Given the description of an element on the screen output the (x, y) to click on. 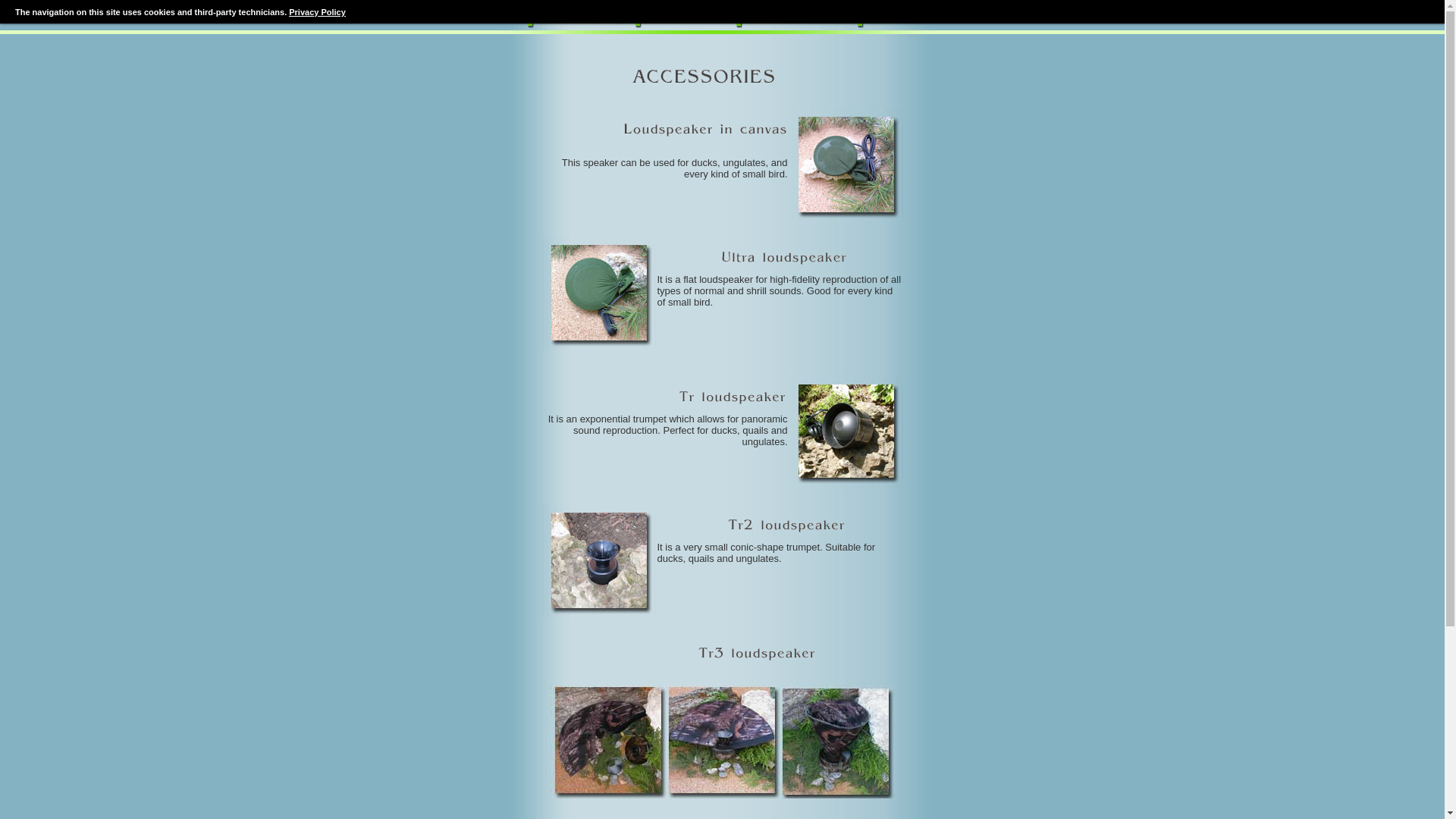
Privacy Policy (317, 11)
